Given the description of an element on the screen output the (x, y) to click on. 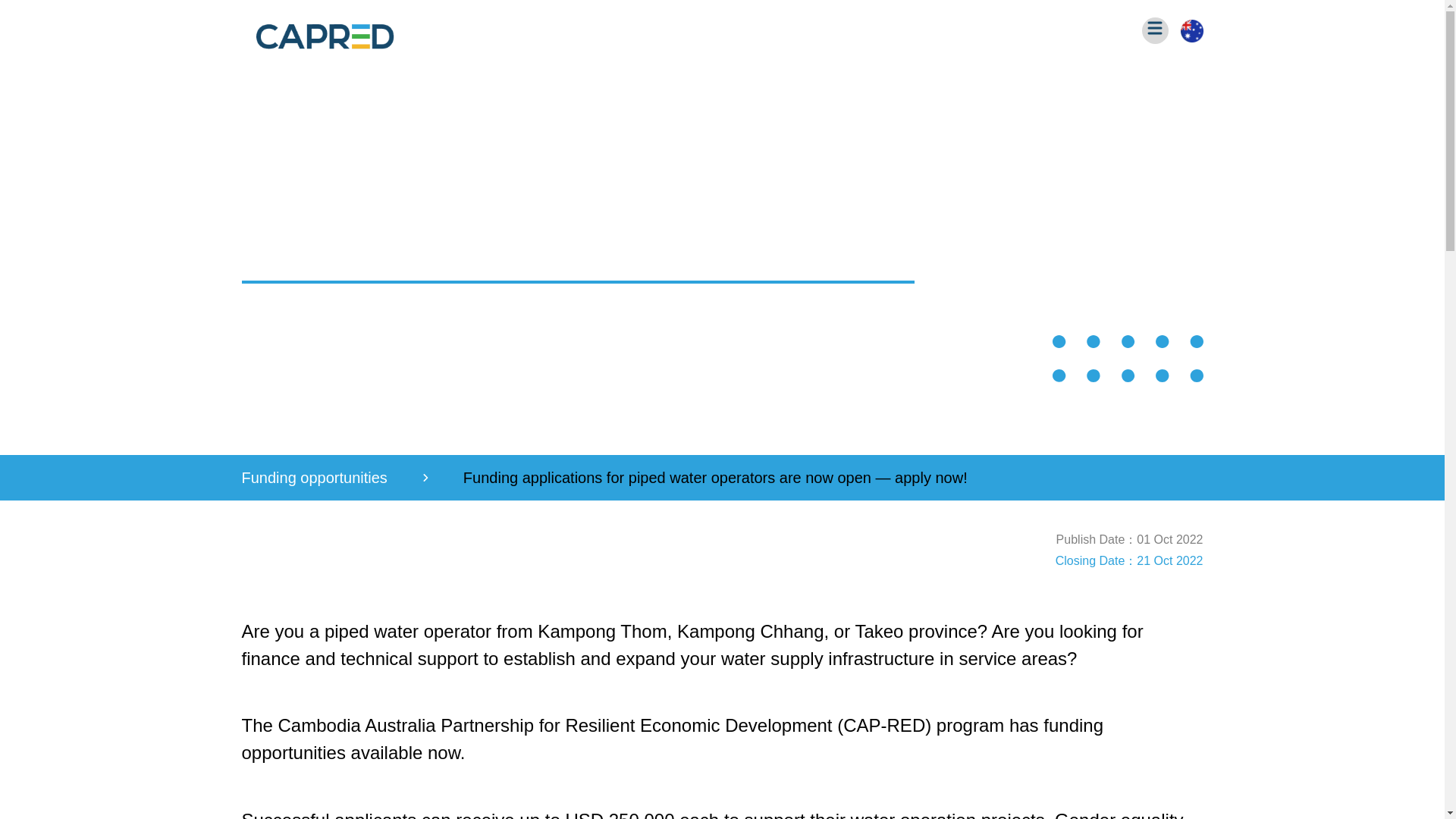
Funding opportunities (314, 477)
